Given the description of an element on the screen output the (x, y) to click on. 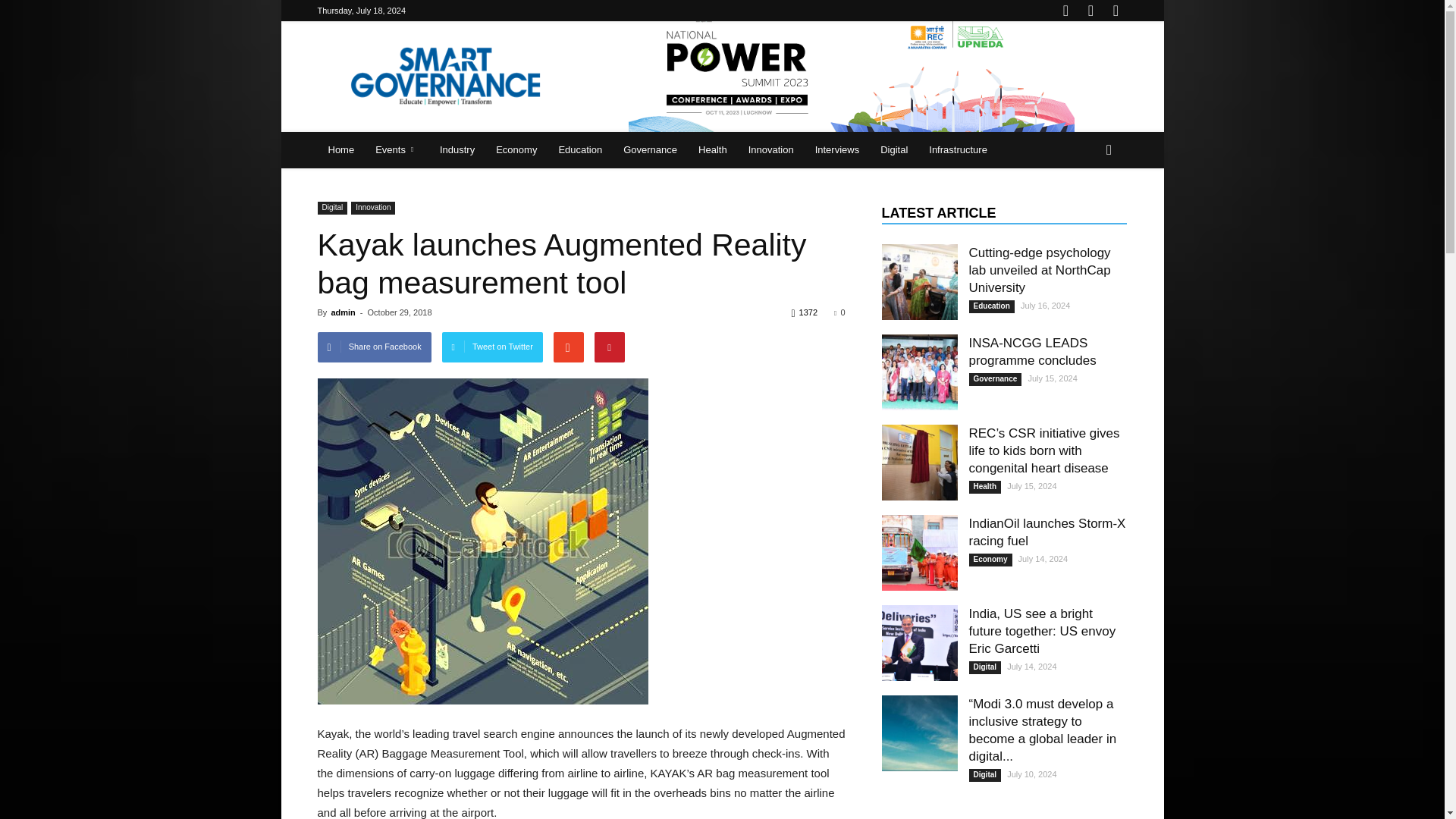
Industry (456, 149)
Facebook (1065, 10)
Innovation (771, 149)
Linkedin (1090, 10)
Digital (893, 149)
Twitter (1114, 10)
Events (397, 149)
Infrastructure (957, 149)
Search (1085, 210)
augmented-reality- (482, 541)
Home (341, 149)
Education (579, 149)
Interviews (837, 149)
Governance (649, 149)
Smart Governance (445, 76)
